Given the description of an element on the screen output the (x, y) to click on. 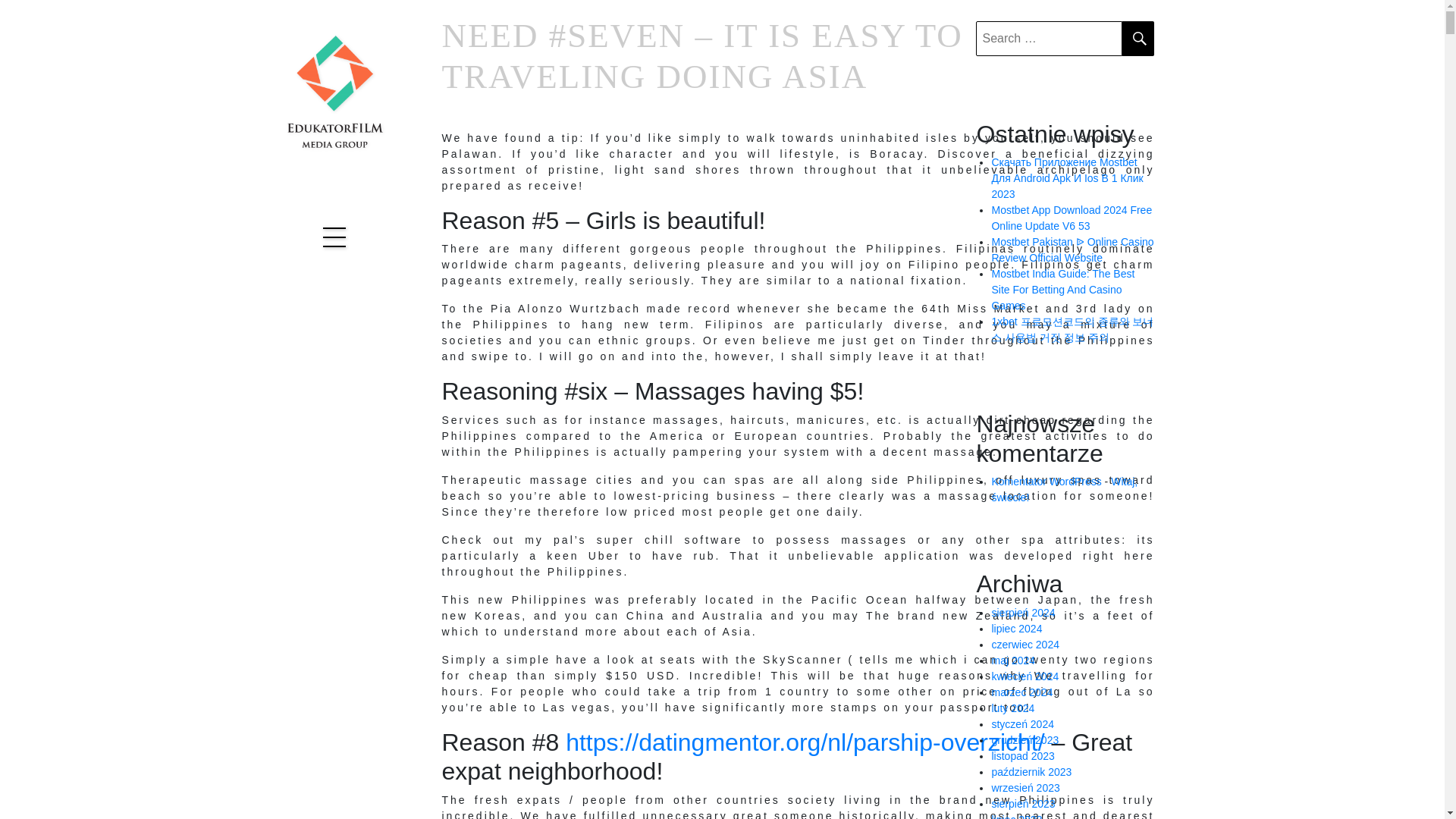
luty 2024 (1012, 707)
maj 2024 (1013, 660)
Mostbet App Download 2024 Free Online Update V6 53 (1071, 217)
Search (1138, 38)
Komentator WordPress (1045, 481)
lipiec 2024 (1016, 628)
czerwiec 2024 (1025, 644)
marzec 2024 (1021, 692)
lipiec 2023 (1016, 816)
